Given the description of an element on the screen output the (x, y) to click on. 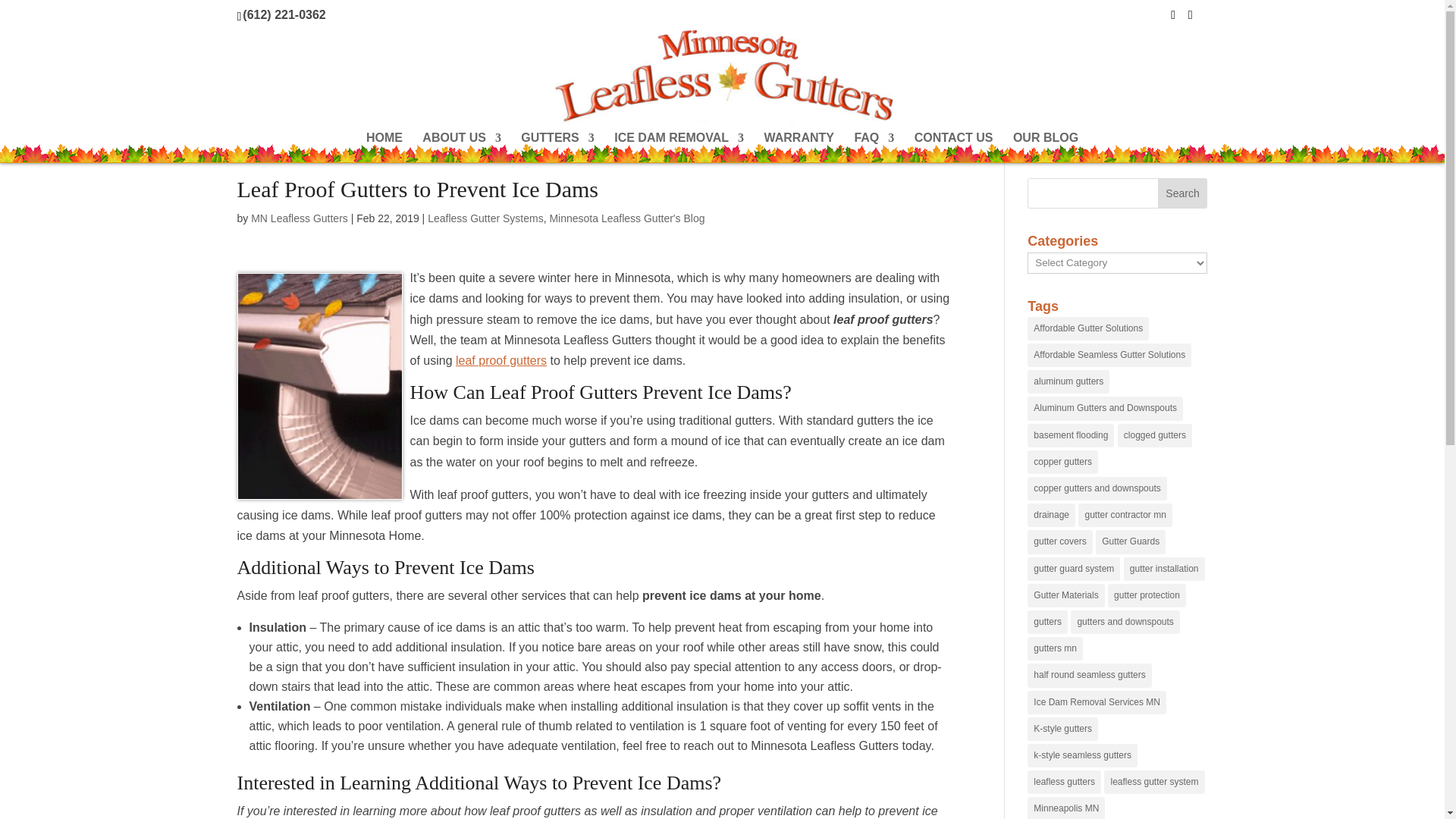
WARRANTY (799, 147)
leaf proof gutters (501, 359)
Affordable Gutter Solutions (1087, 328)
ICE DAM REMOVAL (679, 147)
Search (1182, 193)
Gutter Guards (1131, 541)
MN Leafless Gutters (298, 218)
Affordable Seamless Gutter Solutions (1109, 354)
gutter contractor mn (1125, 515)
basement flooding (1070, 435)
